Given the description of an element on the screen output the (x, y) to click on. 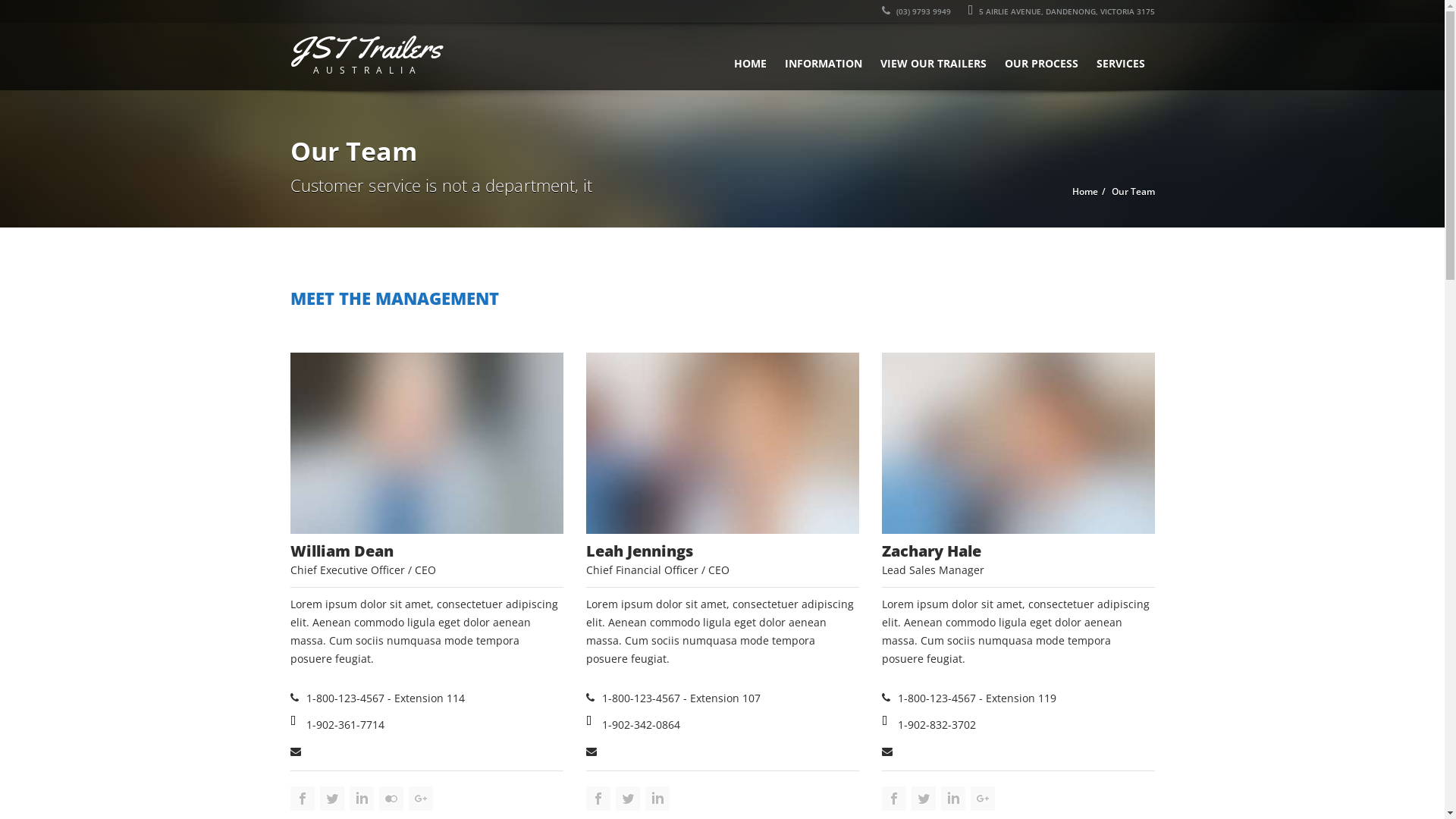
JST Trailers
AUSTRALIA Element type: text (368, 53)
leah@automotivetemplate.com Element type: text (681, 750)
OUR PROCESS Element type: text (1040, 56)
5 AIRLIE AVENUE, DANDENONG, VICTORIA 3175 Element type: text (1060, 11)
VIEW OUR TRAILERS Element type: text (932, 56)
zachary@automotivetemplate.com Element type: text (985, 750)
Our Team Element type: text (1132, 191)
SERVICES Element type: text (1120, 56)
william@automotivetemplate.com Element type: text (392, 750)
INFORMATION Element type: text (822, 56)
Home Element type: text (1085, 191)
HOME Element type: text (749, 56)
(03) 9793 9949 Element type: text (915, 11)
